Given the description of an element on the screen output the (x, y) to click on. 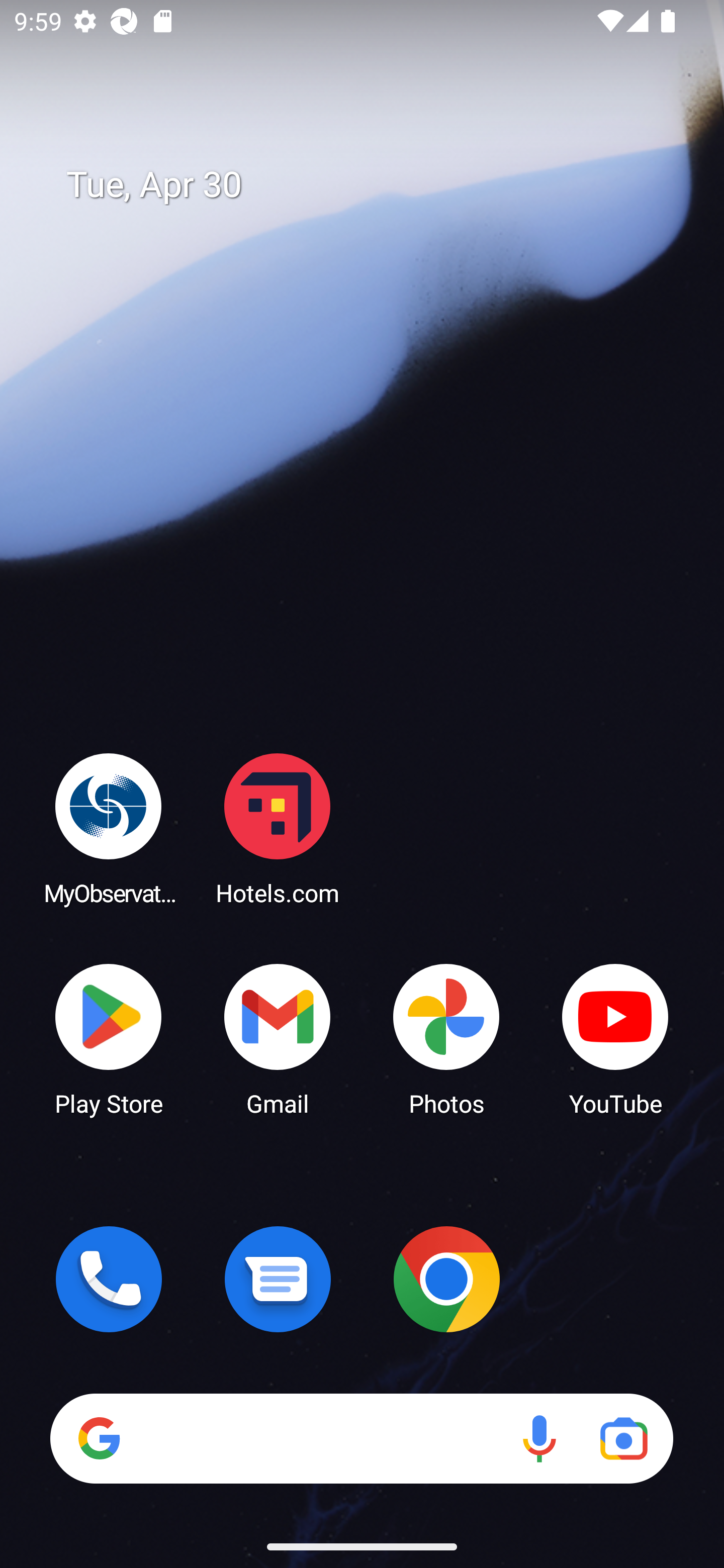
Tue, Apr 30 (375, 184)
MyObservatory (108, 828)
Hotels.com (277, 828)
Play Store (108, 1038)
Gmail (277, 1038)
Photos (445, 1038)
YouTube (615, 1038)
Phone (108, 1279)
Messages (277, 1279)
Chrome (446, 1279)
Voice search (539, 1438)
Google Lens (623, 1438)
